Given the description of an element on the screen output the (x, y) to click on. 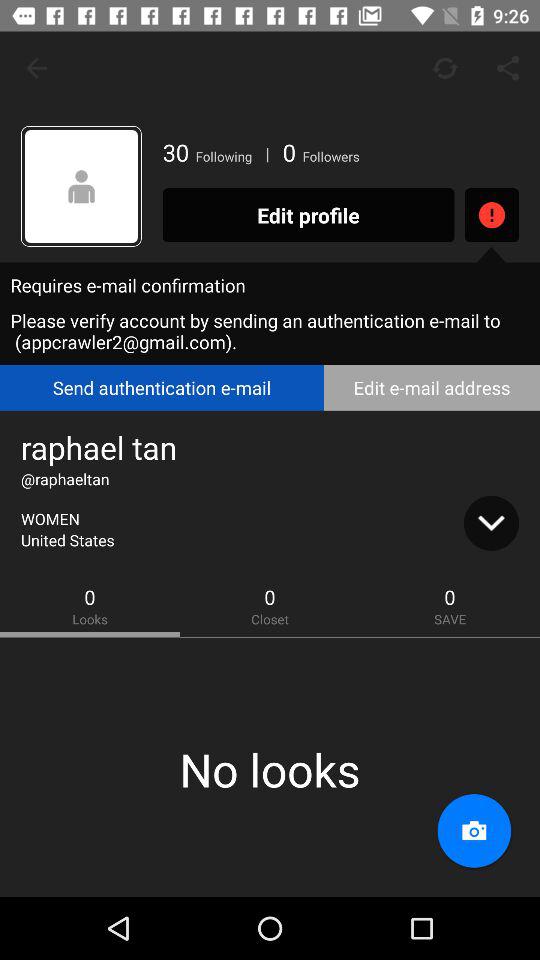
turn off the icon to the right of united states icon (491, 523)
